Given the description of an element on the screen output the (x, y) to click on. 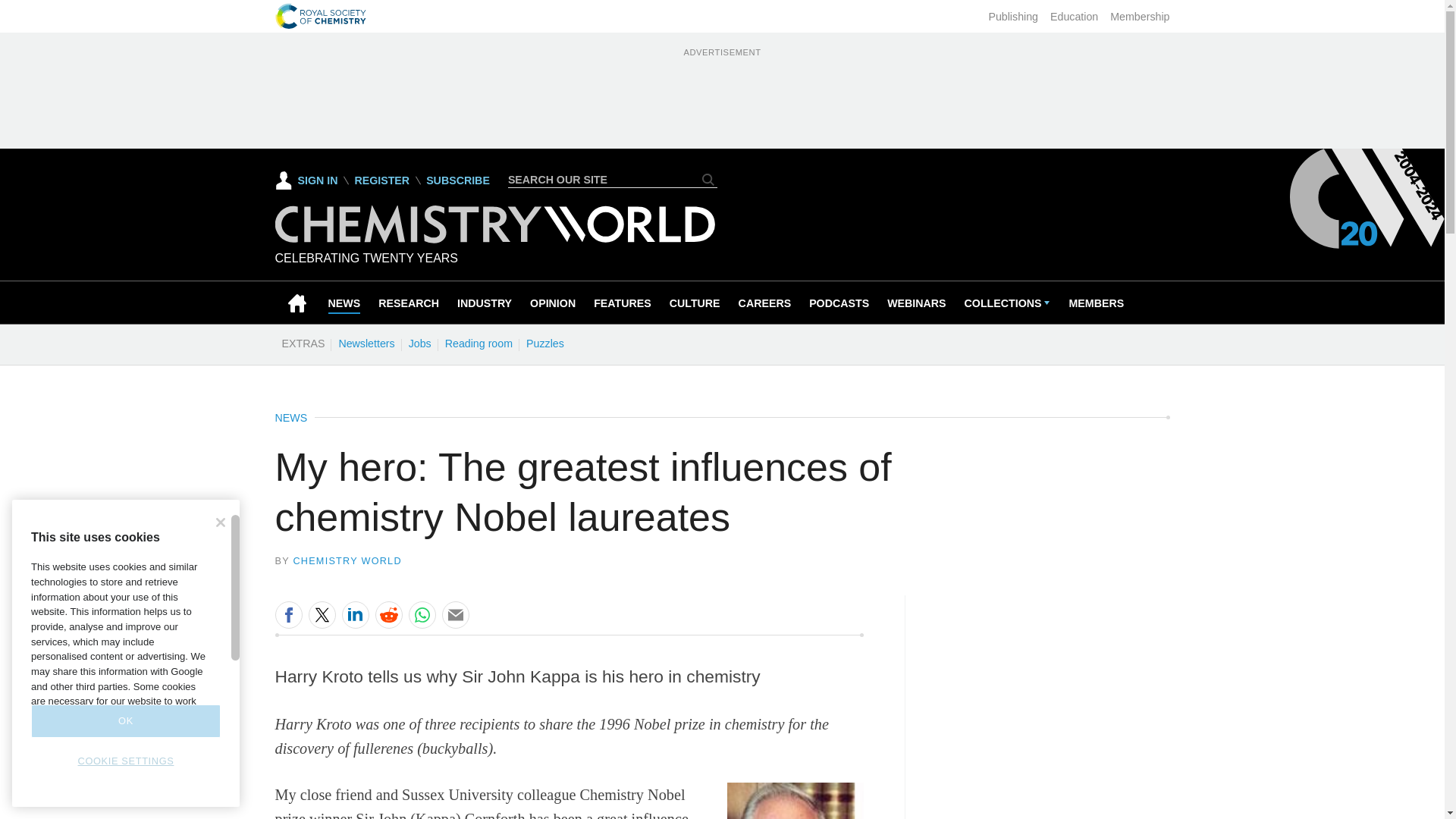
SUBSCRIBE (457, 180)
Reading room (478, 343)
SIGN IN (306, 180)
Membership (1139, 16)
Share this by email (454, 614)
SEARCH (708, 179)
REGISTER (381, 180)
Chemistry World (494, 224)
Chemistry World (494, 238)
Education (1073, 16)
